Given the description of an element on the screen output the (x, y) to click on. 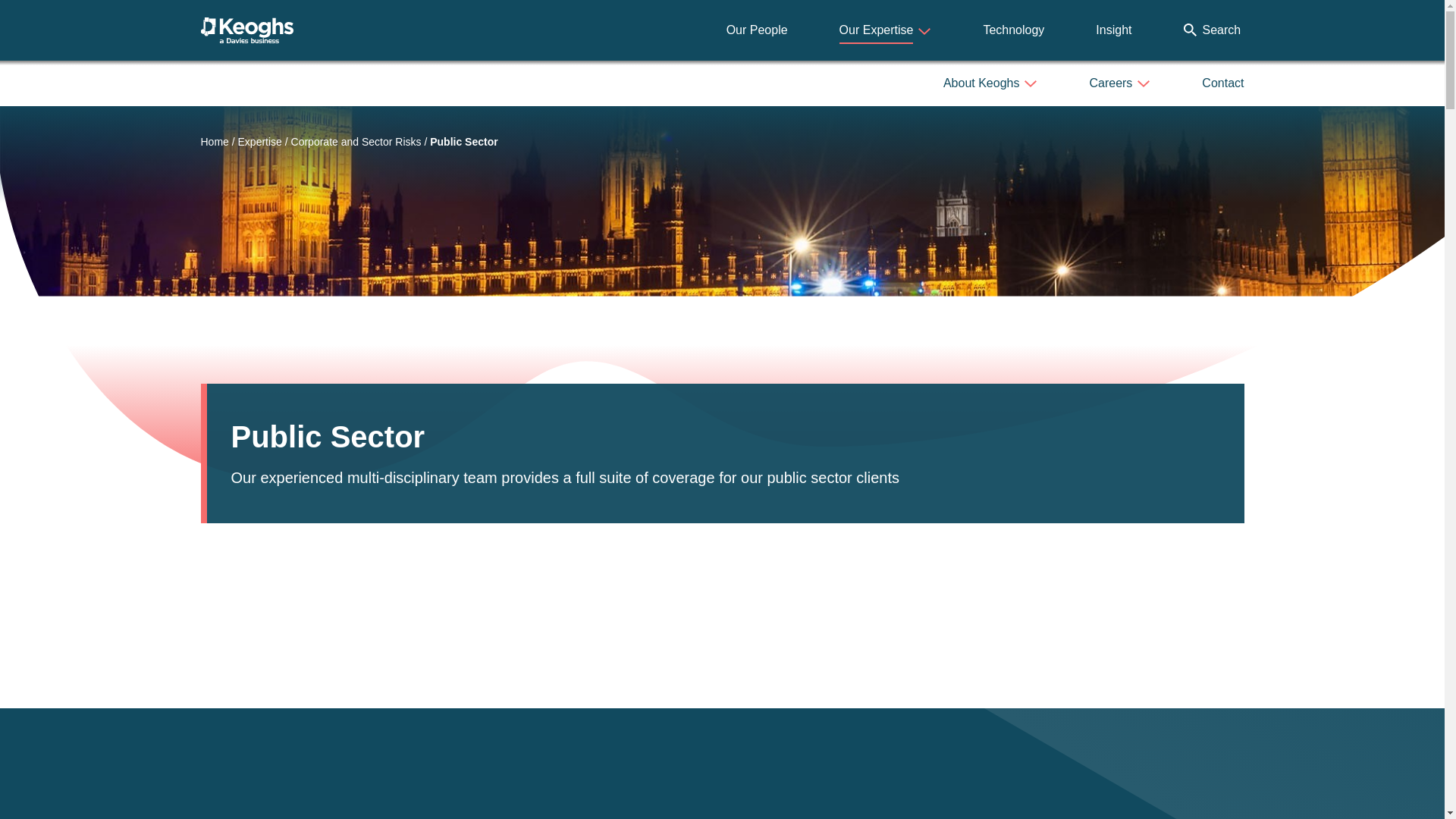
Our People (756, 30)
Our Expertise (885, 30)
Technology (1012, 30)
